Given the description of an element on the screen output the (x, y) to click on. 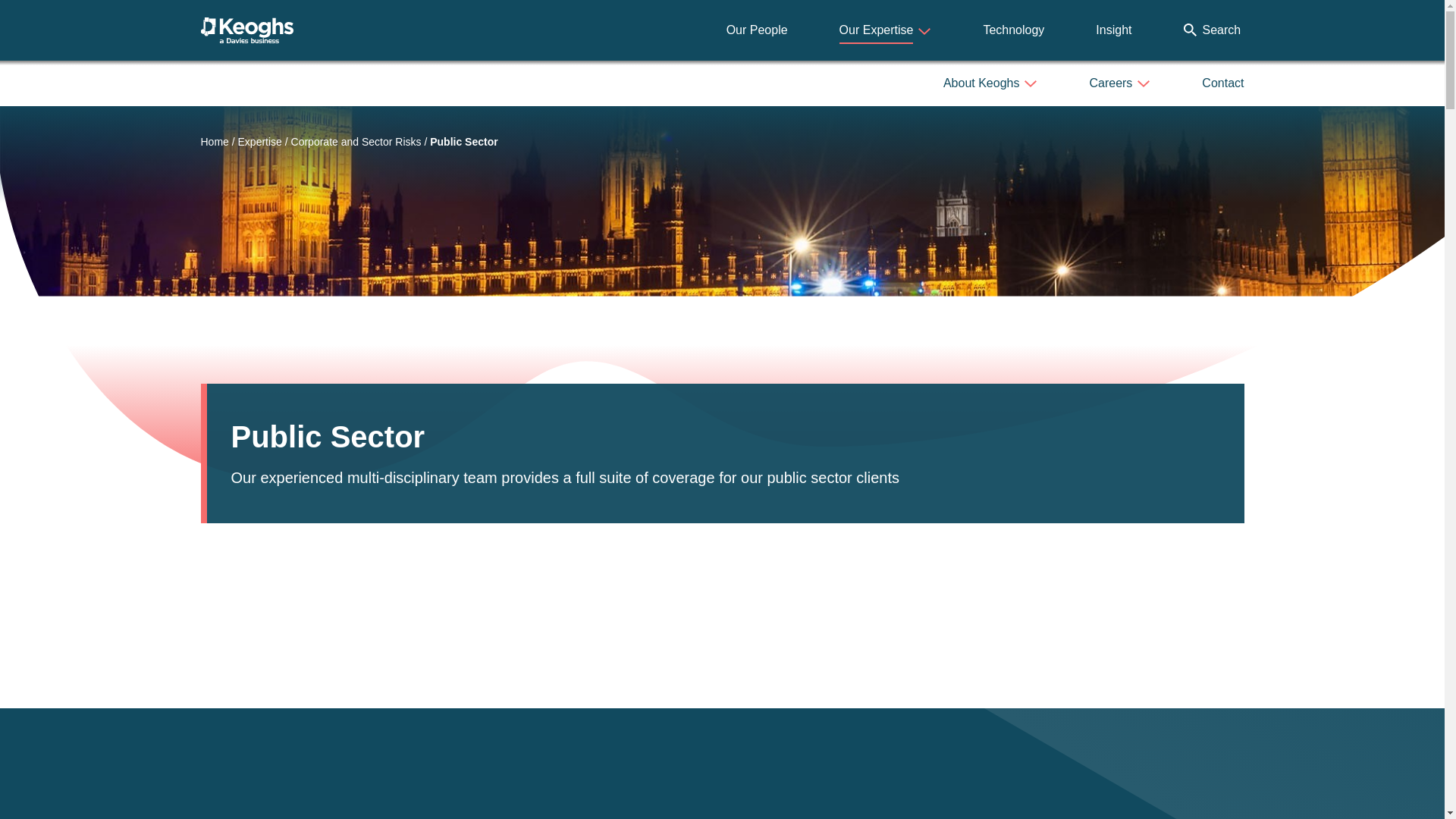
Our People (756, 30)
Our Expertise (885, 30)
Technology (1012, 30)
